Given the description of an element on the screen output the (x, y) to click on. 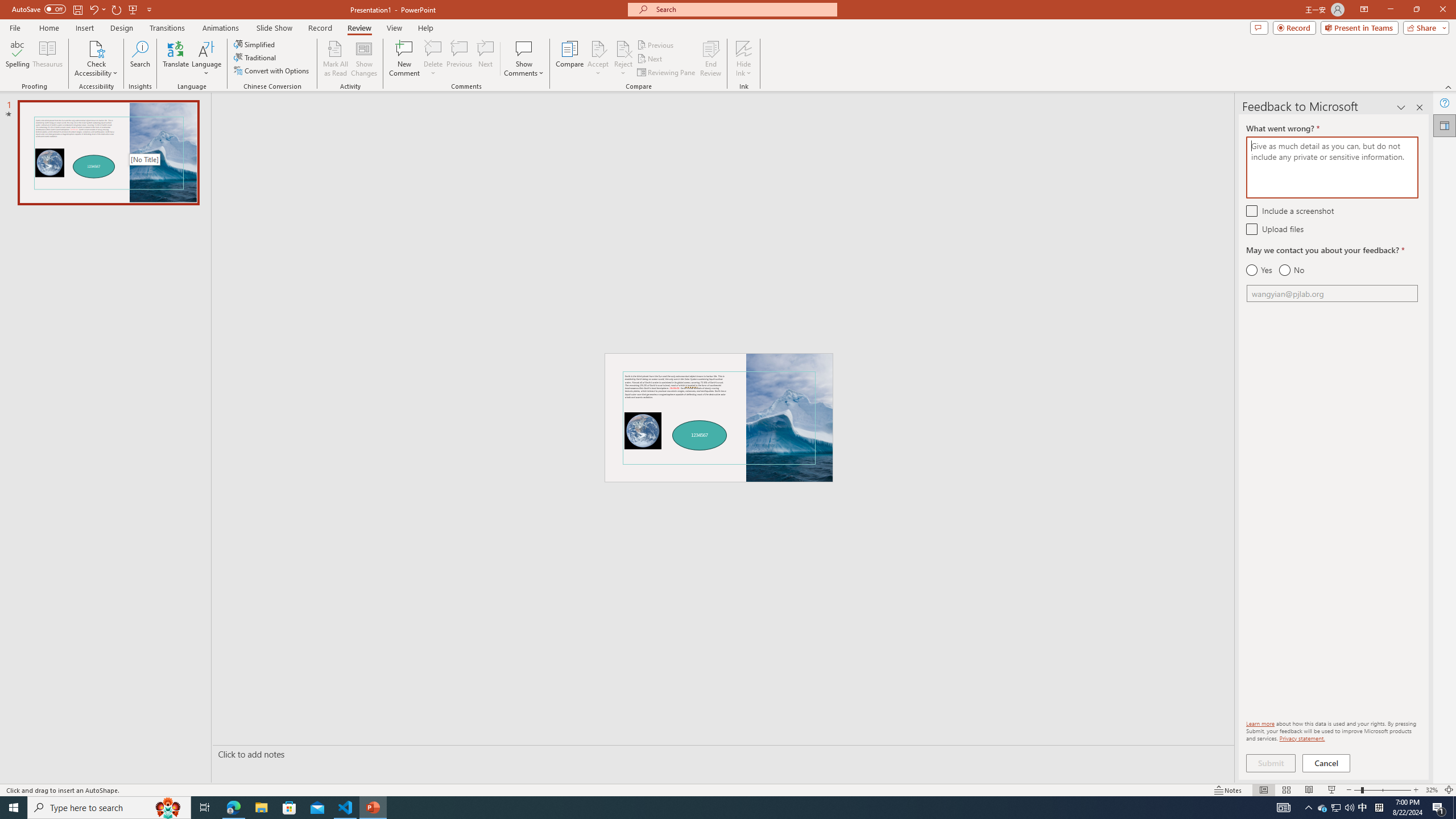
Reviewing Pane (666, 72)
Email (1332, 293)
Zoom 32% (1431, 790)
Include a screenshot (1251, 210)
Cancel (1327, 763)
Mark All as Read (335, 58)
Show Comments (524, 58)
